Given the description of an element on the screen output the (x, y) to click on. 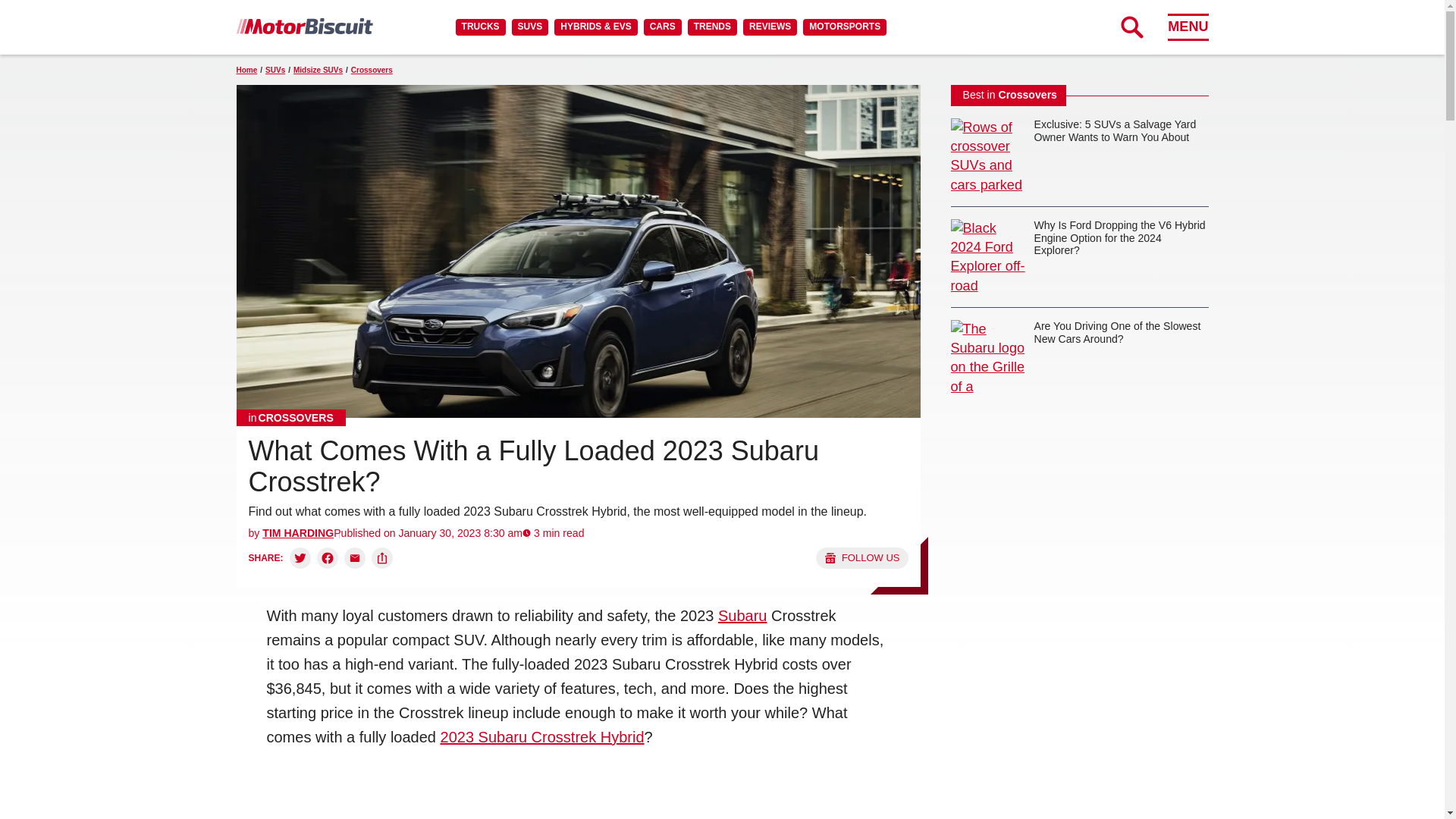
Copy link and share:  (382, 557)
Crossovers (290, 417)
MotorBiscuit (303, 26)
REVIEWS (769, 26)
CARS (662, 26)
Expand Search (1131, 26)
Follow us on Google News (861, 557)
SUVS (530, 26)
MENU (1187, 26)
